Given the description of an element on the screen output the (x, y) to click on. 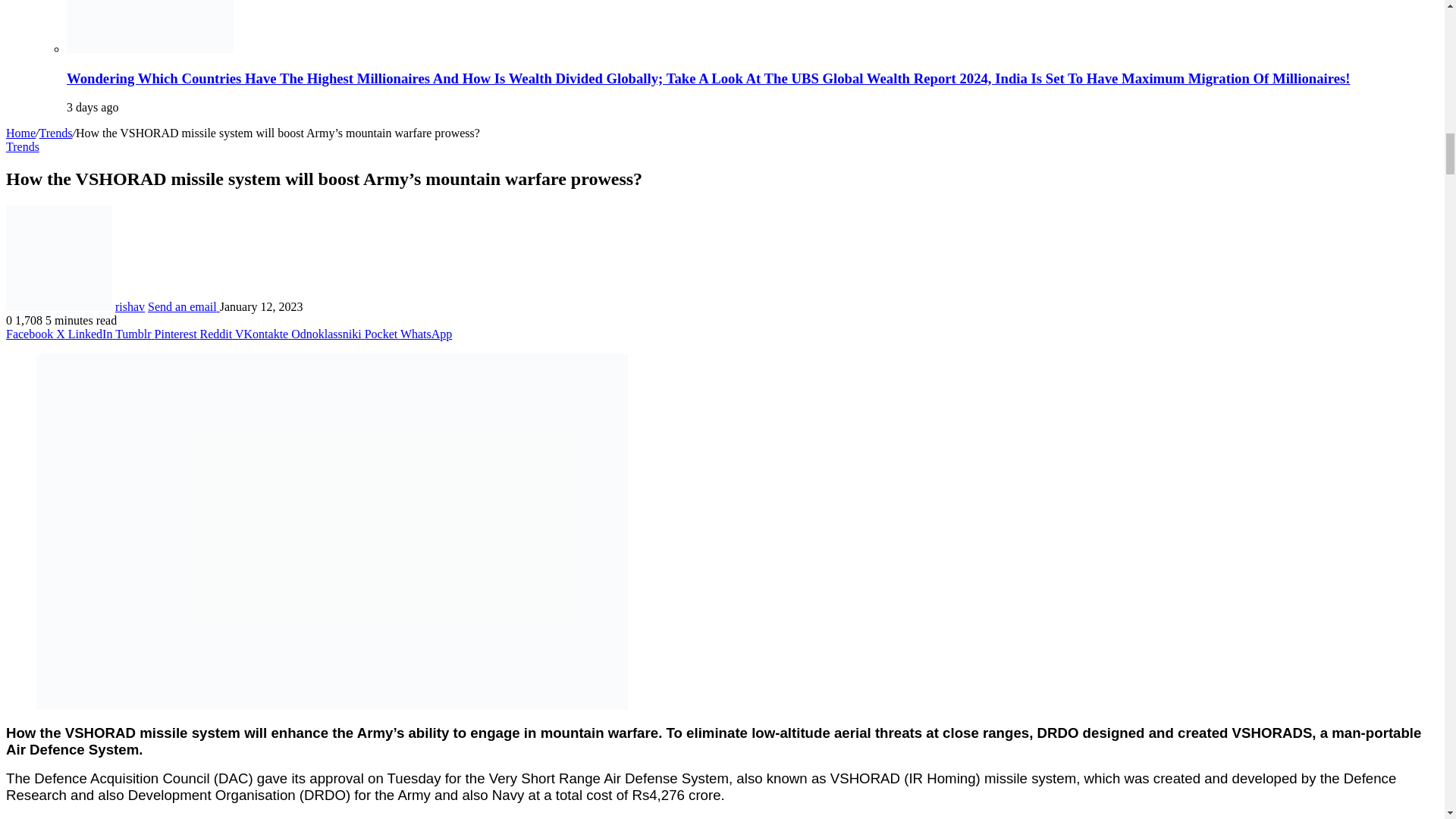
Send an email (183, 306)
Pinterest (177, 333)
Tumblr (134, 333)
Facebook (30, 333)
Reddit (217, 333)
VKontakte (262, 333)
X (62, 333)
rishav (129, 306)
LinkedIn (91, 333)
